Given the description of an element on the screen output the (x, y) to click on. 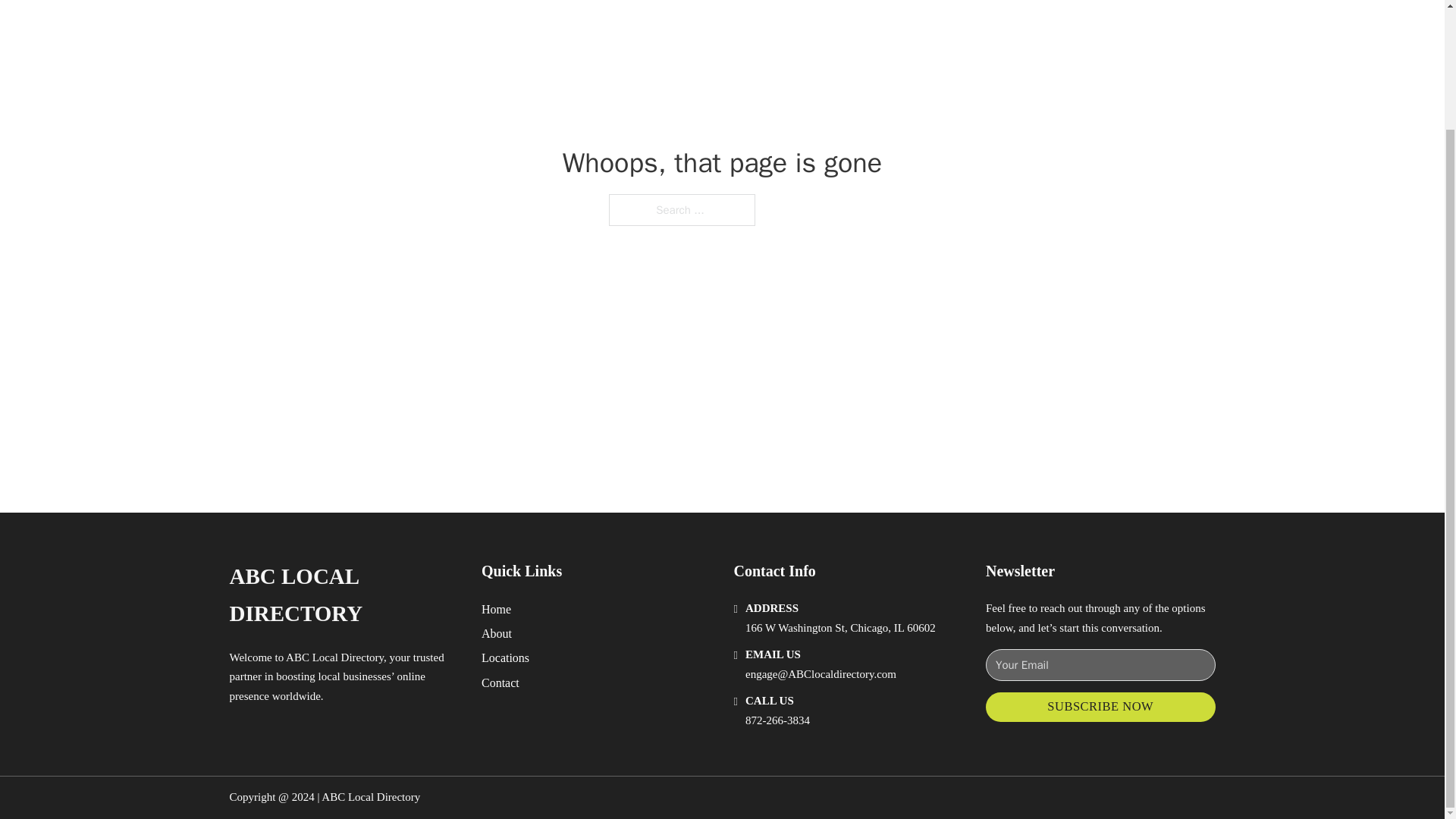
SUBSCRIBE NOW (1100, 706)
Contact (500, 682)
About (496, 633)
Home (496, 608)
872-266-3834 (777, 720)
ABC LOCAL DIRECTORY (343, 595)
Locations (505, 657)
